Given the description of an element on the screen output the (x, y) to click on. 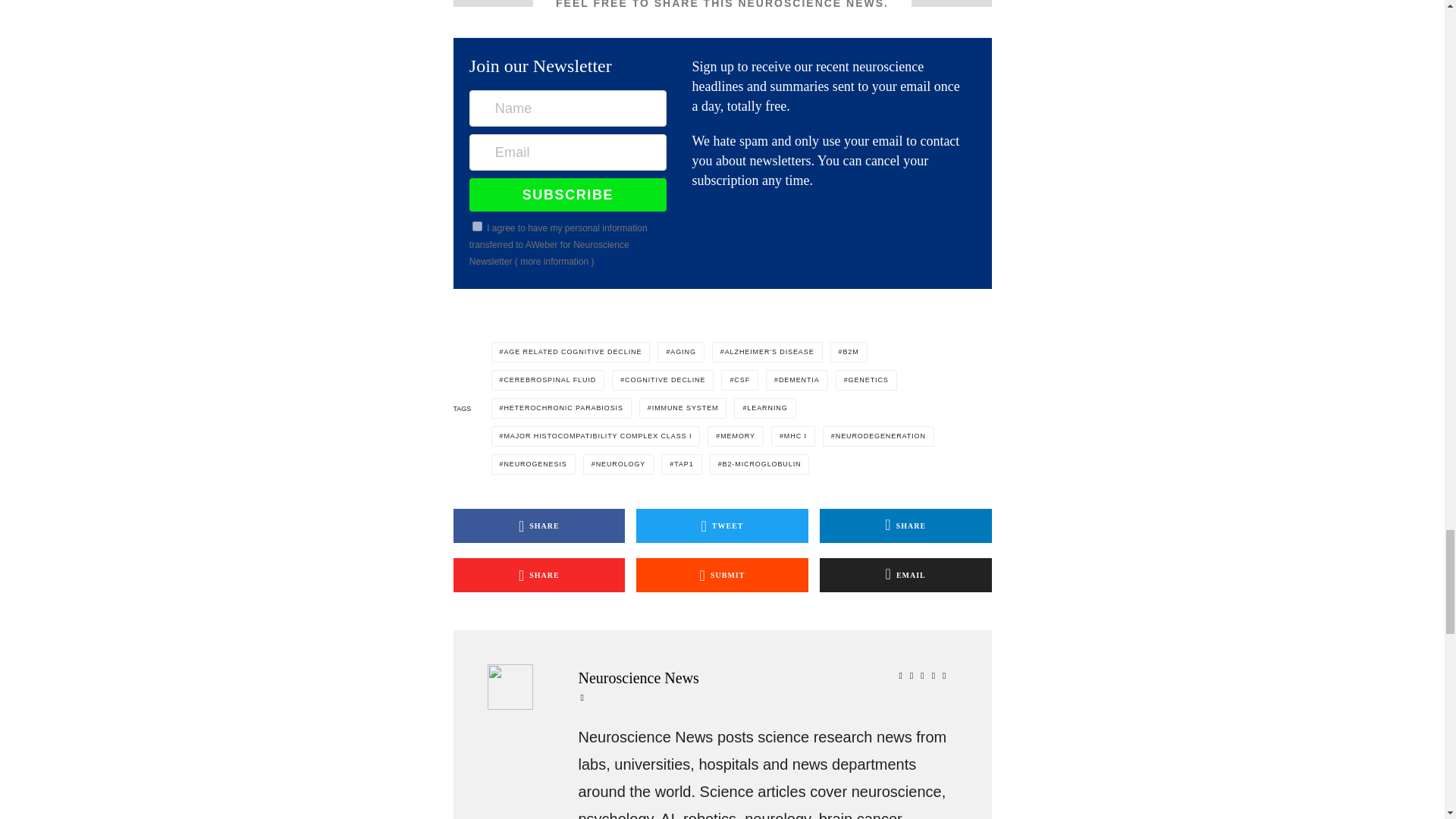
MAJOR HISTOCOMPATIBILITY COMPLEX CLASS I (596, 435)
AGE RELATED COGNITIVE DECLINE (571, 352)
MEMORY (734, 435)
SUBSCRIBE (567, 194)
IMMUNE SYSTEM (682, 408)
NEURODEGENERATION (878, 435)
TWEET (722, 525)
NEUROLOGY (618, 464)
ALZHEIMER'S DISEASE (766, 352)
DEMENTIA (796, 380)
